Given the description of an element on the screen output the (x, y) to click on. 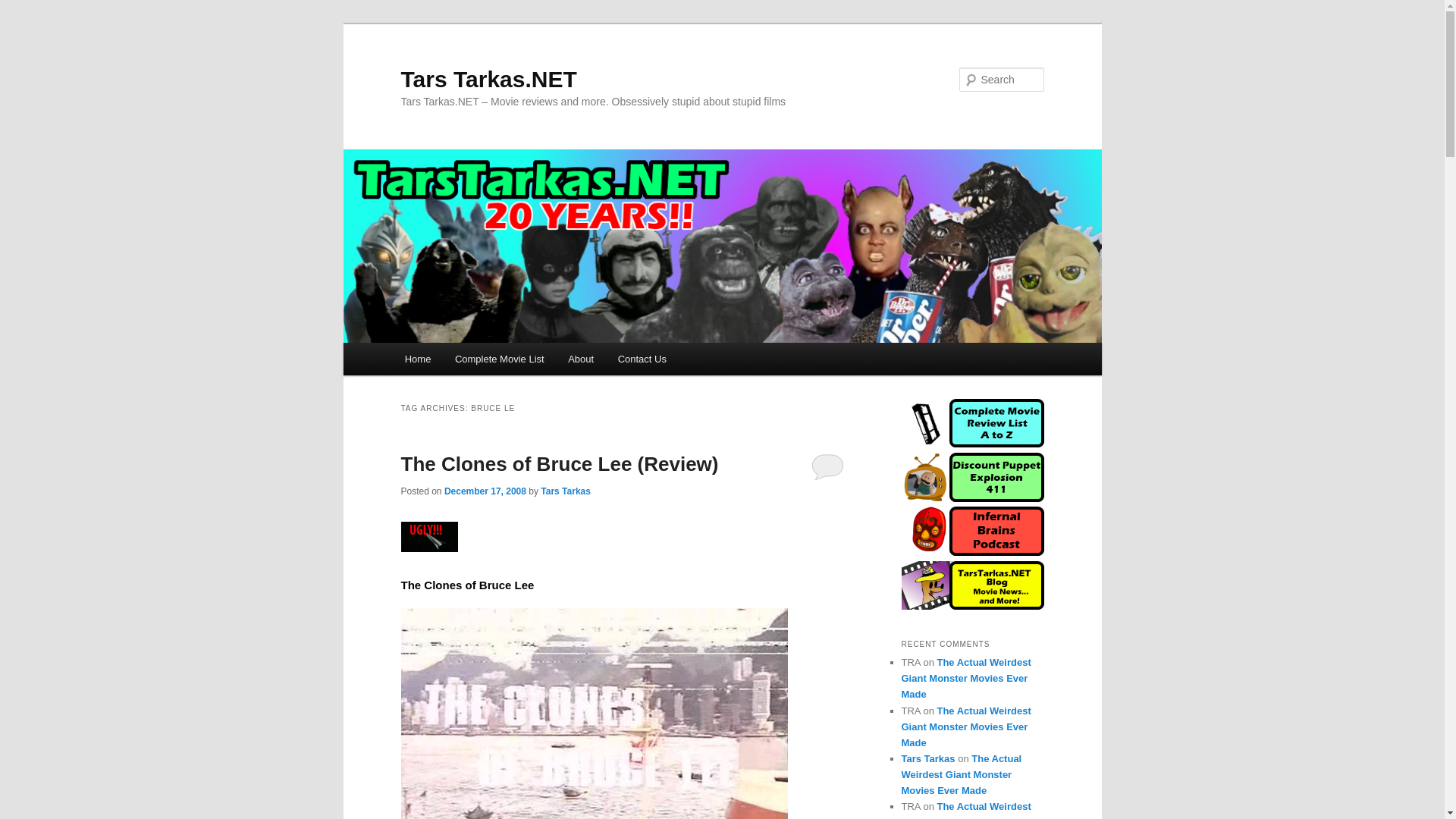
Complete Movie List (499, 359)
About (580, 359)
View all posts by Tars Tarkas (565, 491)
The Actual Weirdest Giant Monster Movies Ever Made (965, 678)
Home (417, 359)
Search (24, 8)
Tars Tarkas (565, 491)
December 17, 2008 (484, 491)
10:00 am (484, 491)
Contact Us (641, 359)
Tars Tarkas.NET (488, 78)
